Given the description of an element on the screen output the (x, y) to click on. 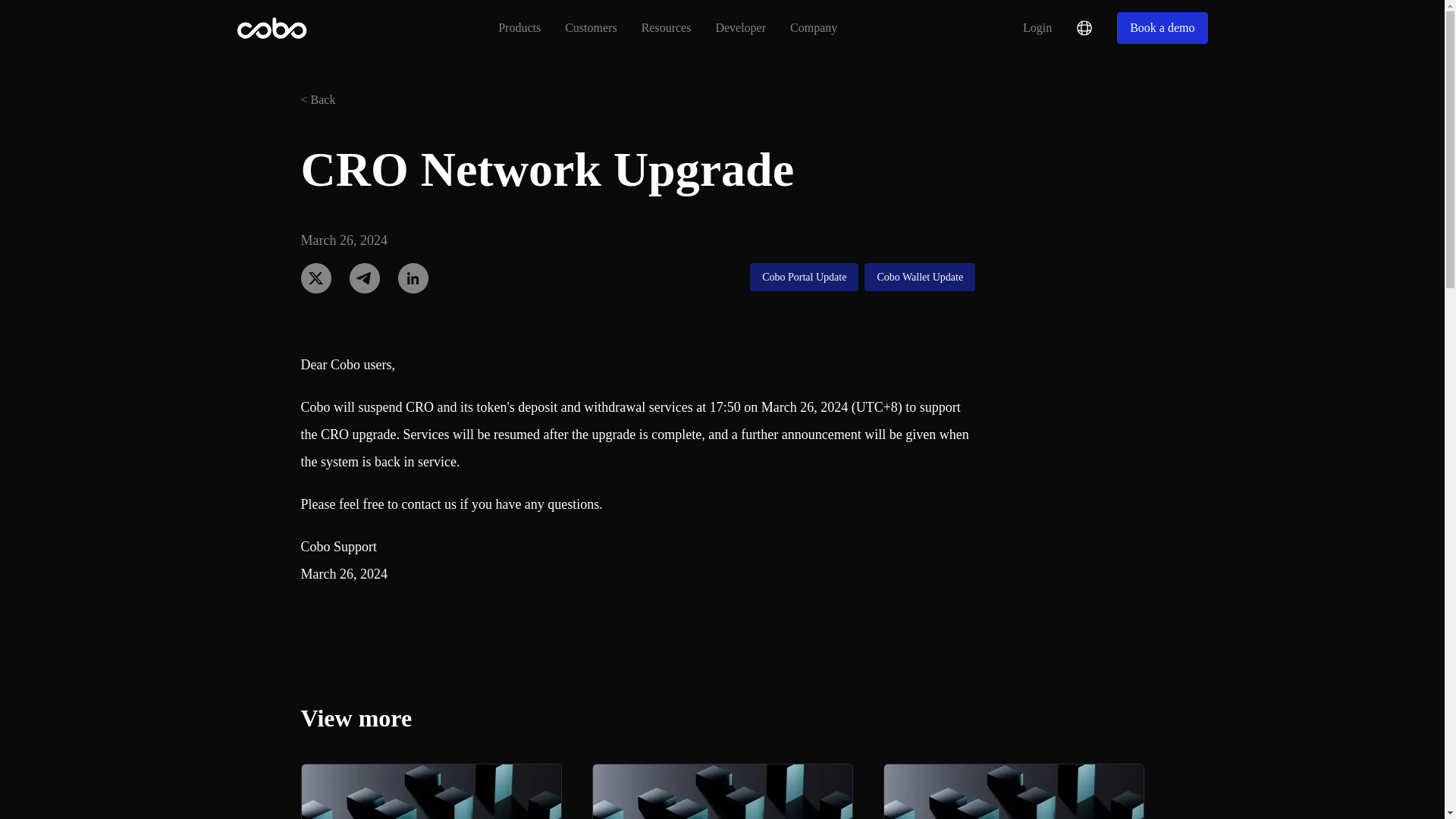
Developer (429, 791)
Login (721, 791)
Products (739, 27)
shareToTwitter (1037, 27)
Customers (518, 27)
shareToLinkedin (314, 277)
Resources (589, 27)
Company (412, 277)
